Given the description of an element on the screen output the (x, y) to click on. 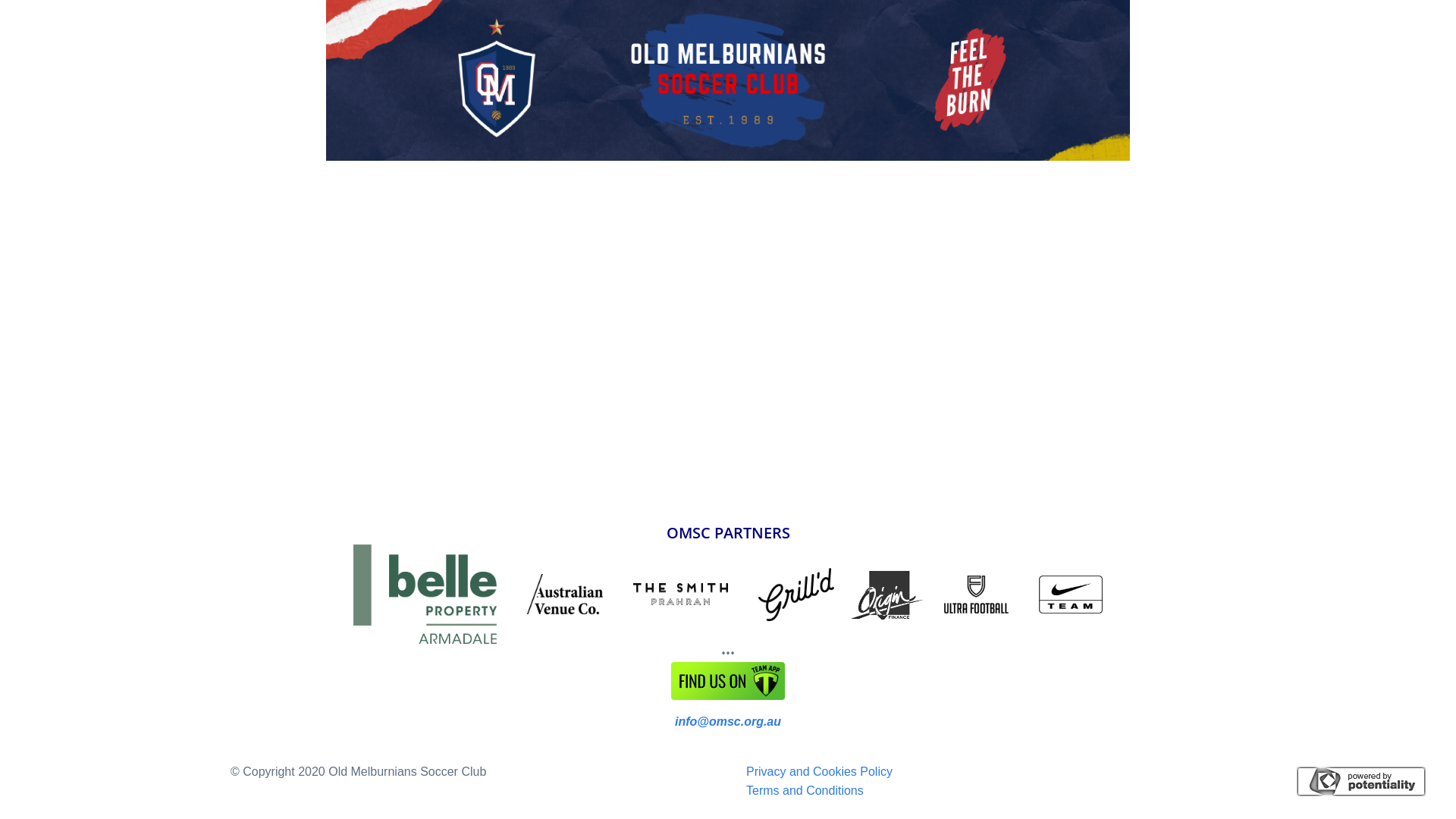
Privacy and Cookies Policy Element type: text (819, 771)
Find us on Team App Element type: hover (727, 680)
info@omsc.org.au Element type: text (727, 721)
Terms and Conditions Element type: text (804, 790)
